Given the description of an element on the screen output the (x, y) to click on. 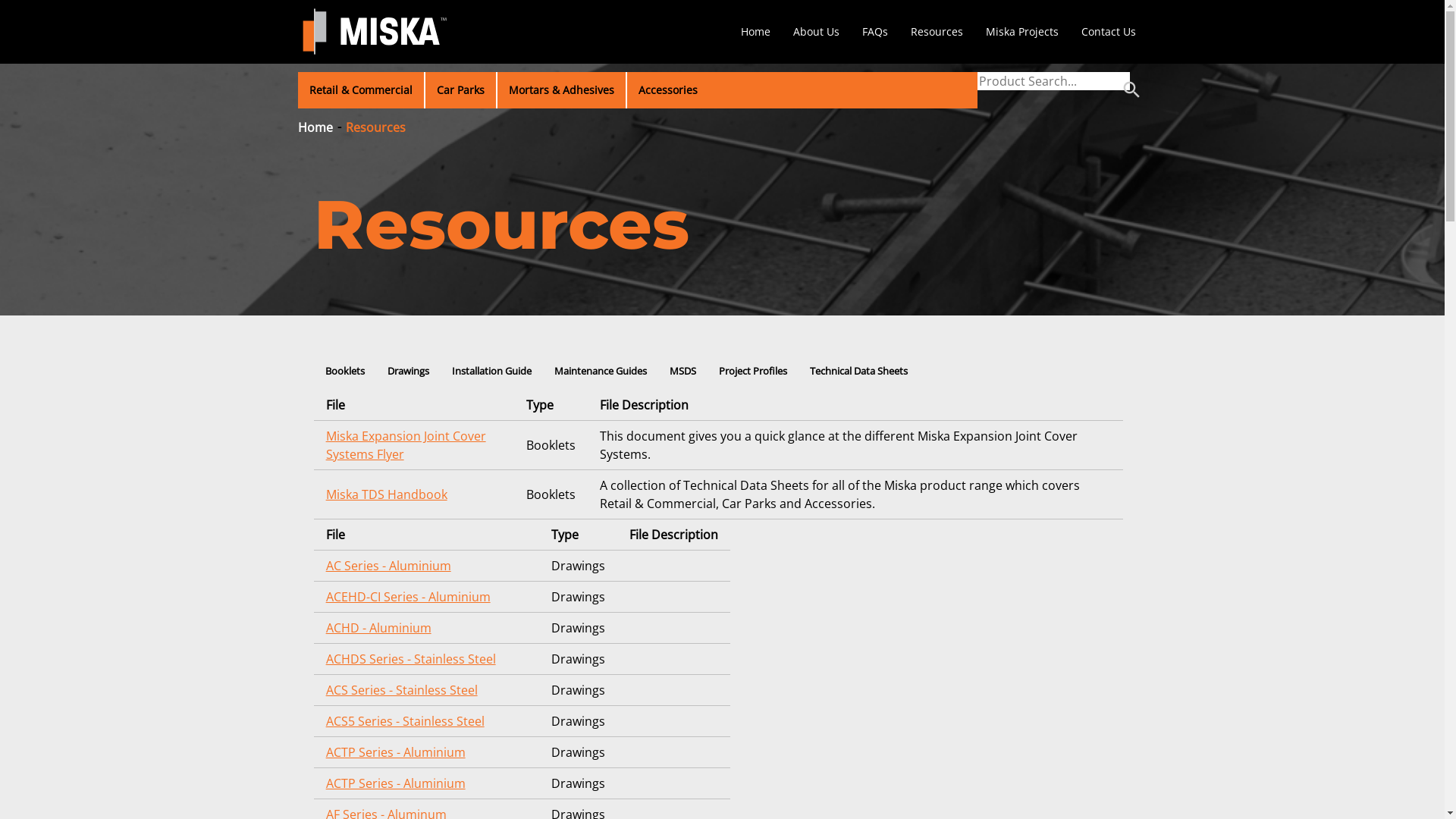
Miska Expansion Joint Cover Systems Flyer Element type: text (406, 444)
ACS Series - Stainless Steel Element type: text (401, 689)
Miska TDS Handbook Element type: text (386, 494)
About Us Element type: text (815, 31)
Retail & Commercial Element type: text (360, 90)
Miska Projects Element type: text (1021, 31)
Home Element type: text (314, 126)
Resources Element type: text (936, 31)
ACTP Series - Aluminium Element type: text (395, 751)
Mortars & Adhesives Element type: text (561, 90)
Resources Element type: text (375, 126)
product title Element type: hover (1052, 81)
Car Parks Element type: text (459, 90)
ACHD - Aluminium Element type: text (378, 627)
ACEHD-CI Series - Aluminium Element type: text (408, 596)
FAQs Element type: text (874, 31)
Accessories Element type: text (667, 90)
ACTP Series - Aluminium Element type: text (395, 783)
Contact Us Element type: text (1107, 31)
ACHDS Series - Stainless Steel Element type: text (410, 658)
AC Series - Aluminium Element type: text (388, 565)
Home Element type: text (755, 31)
ACS5 Series - Stainless Steel Element type: text (405, 720)
